Given the description of an element on the screen output the (x, y) to click on. 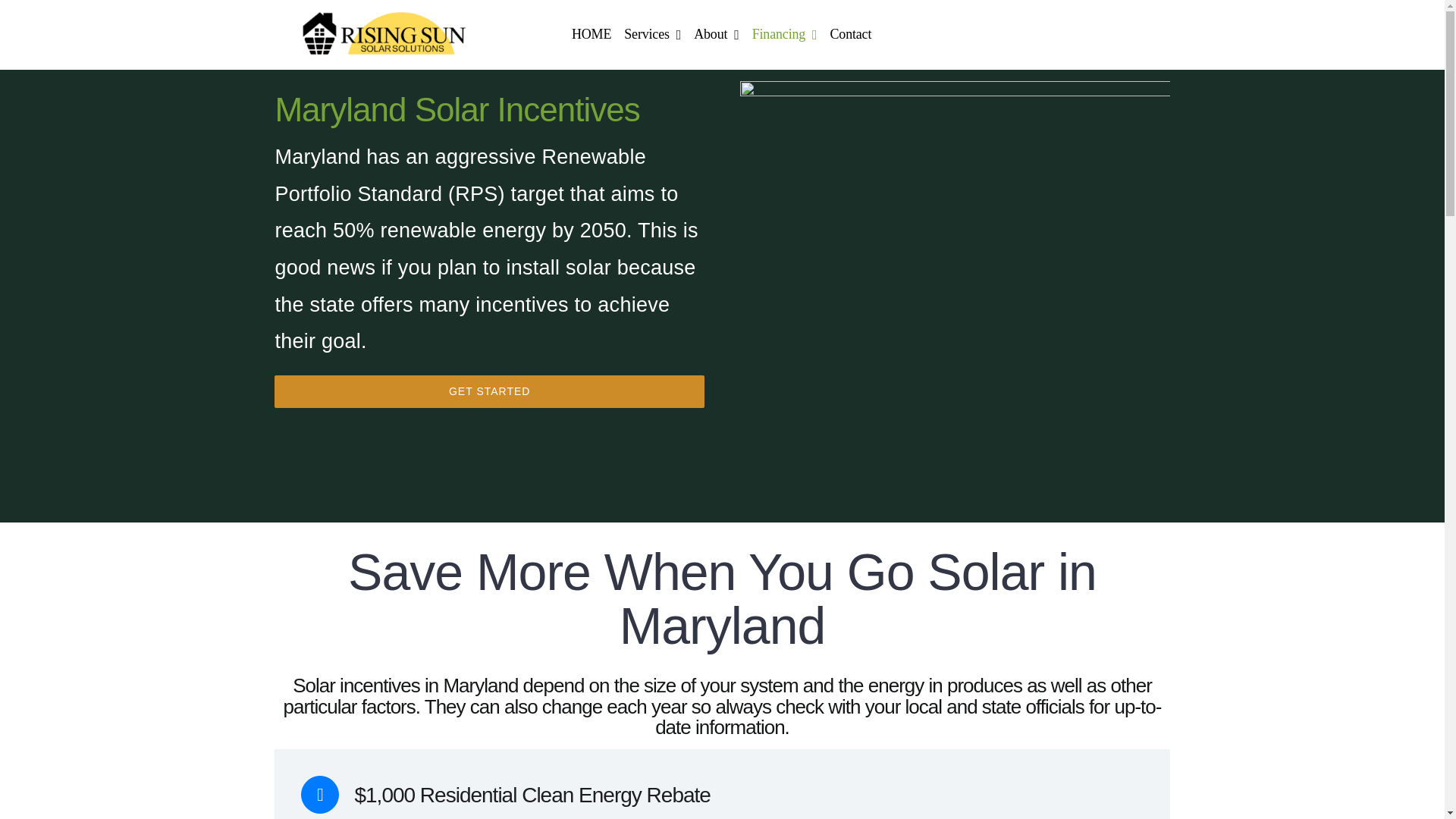
About (716, 34)
GET STARTED (489, 391)
Contact (850, 34)
HOME (591, 34)
Services (652, 34)
Financing (785, 34)
